Given the description of an element on the screen output the (x, y) to click on. 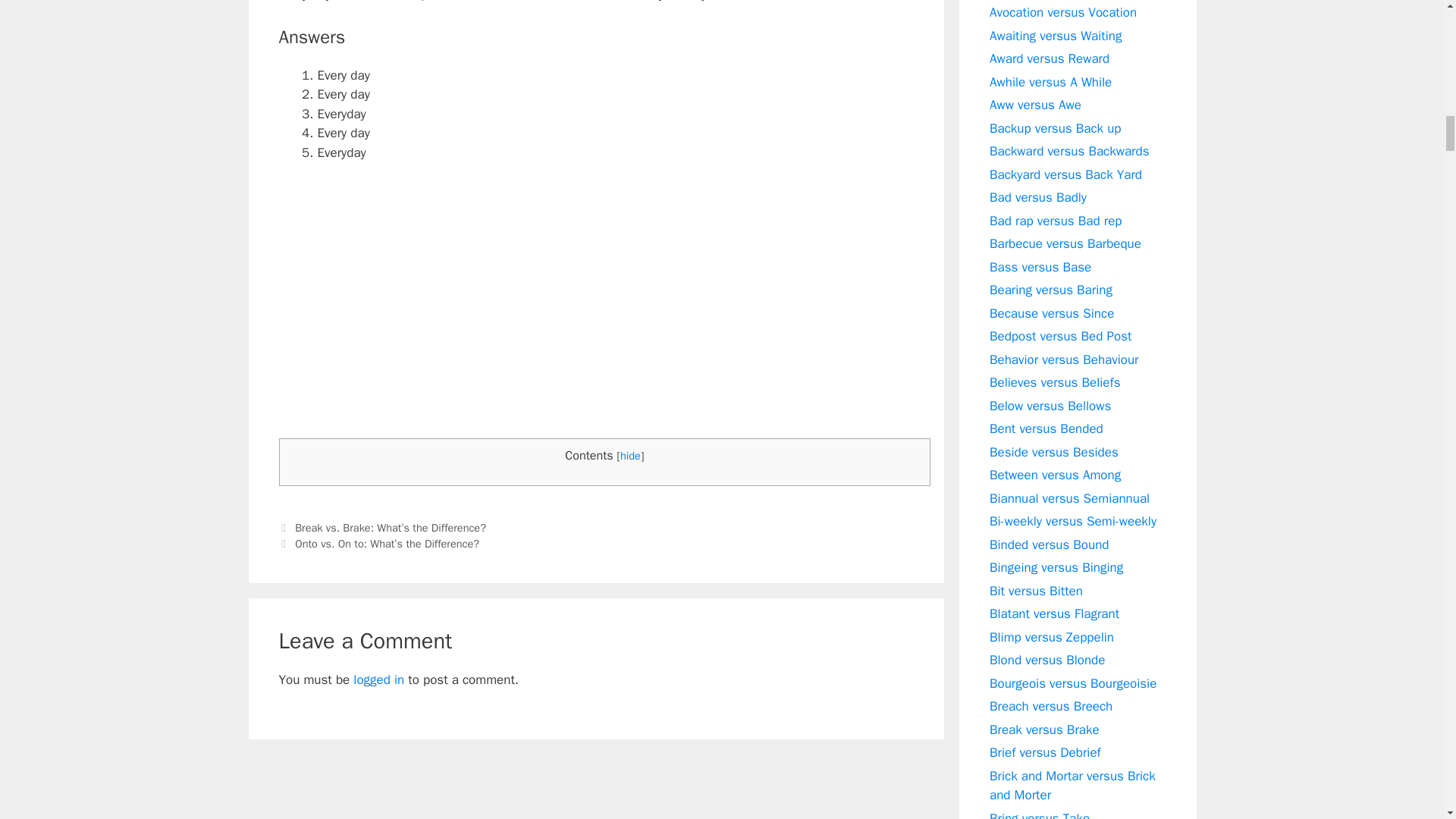
hide (630, 455)
logged in (378, 679)
Advertisement (595, 326)
